Given the description of an element on the screen output the (x, y) to click on. 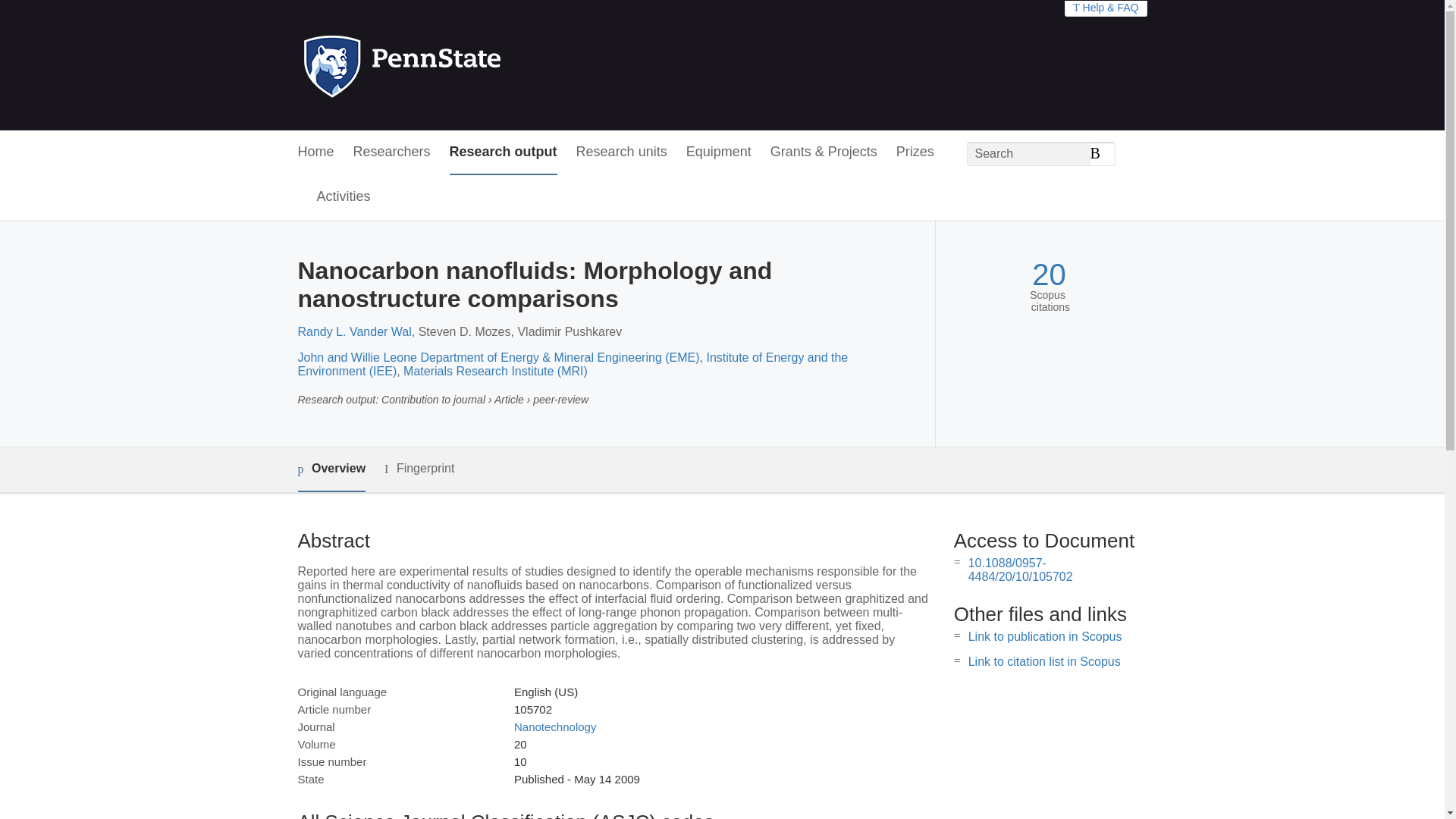
Research units (621, 152)
Research output (503, 152)
Randy L. Vander Wal (353, 331)
Equipment (718, 152)
Researchers (391, 152)
Activities (344, 197)
Penn State Home (467, 65)
Link to publication in Scopus (1045, 635)
Fingerprint (419, 468)
20 (1048, 274)
Link to citation list in Scopus (1044, 661)
Overview (331, 469)
Nanotechnology (554, 726)
